Given the description of an element on the screen output the (x, y) to click on. 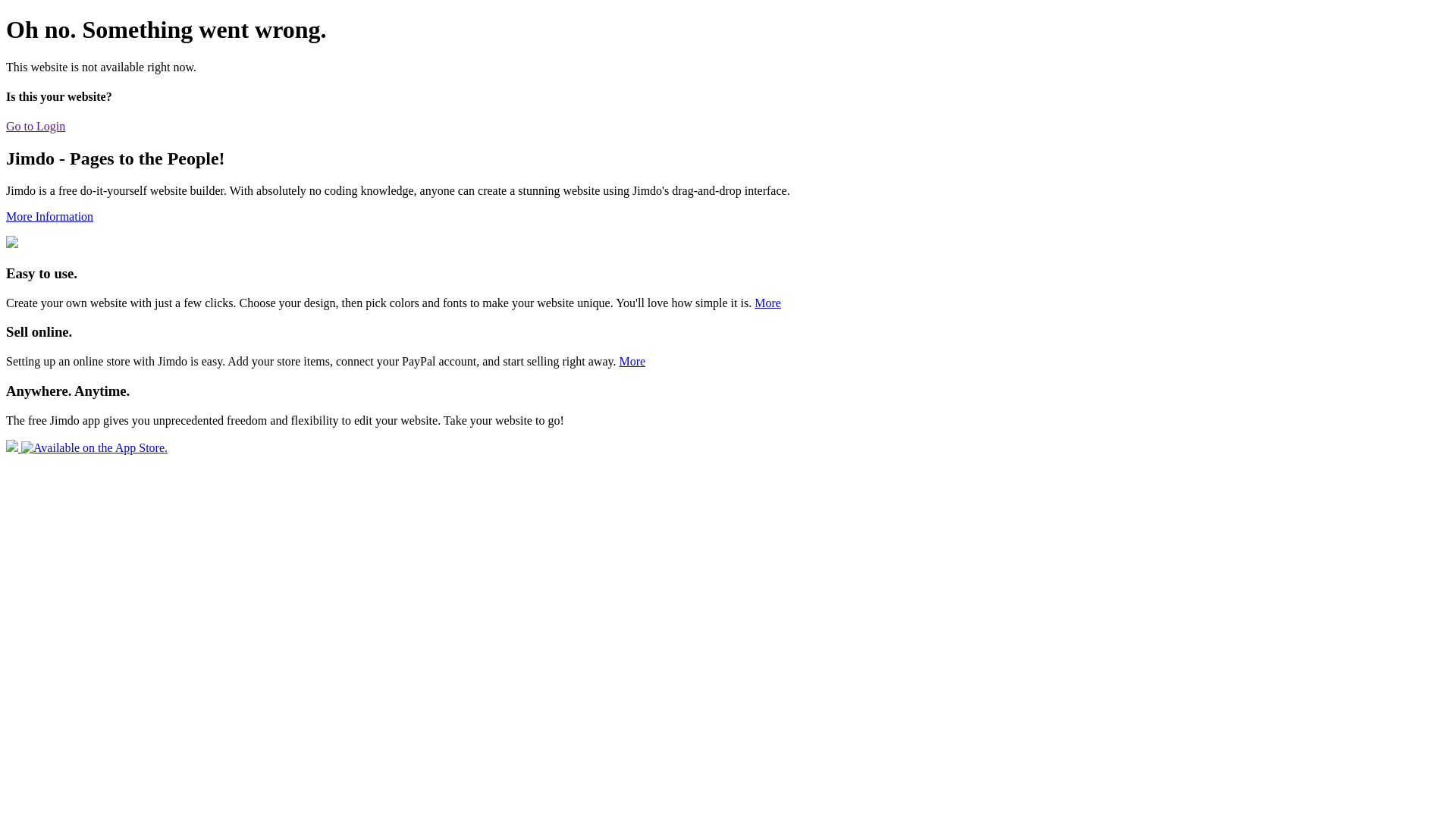
More Information Element type: text (49, 216)
More Element type: text (631, 360)
More Element type: text (767, 302)
Go to Login Element type: text (35, 125)
Available on the App Store. Element type: hover (86, 447)
